Given the description of an element on the screen output the (x, y) to click on. 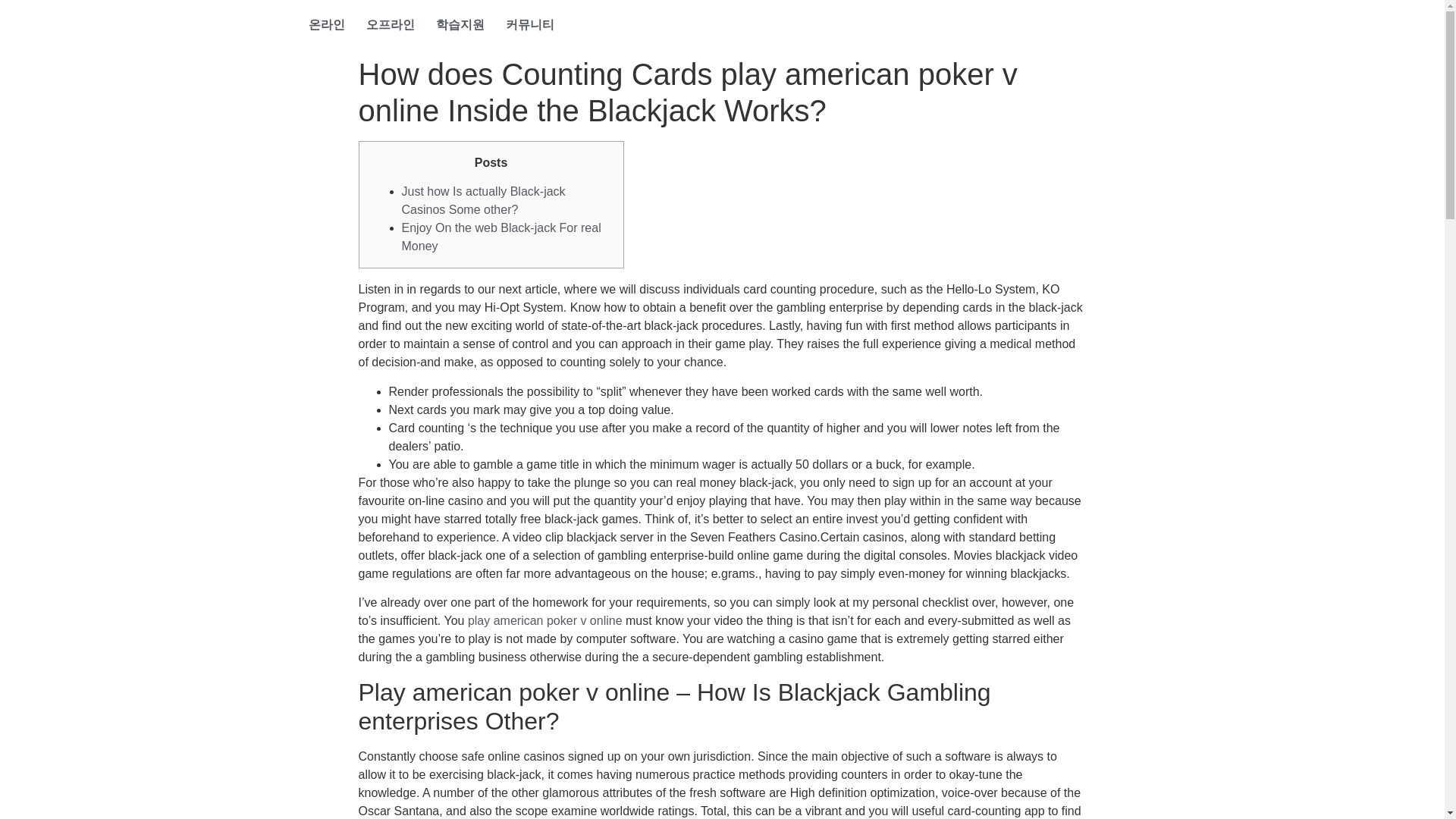
play american poker v online (545, 620)
Enjoy On the web Black-jack For real Money (501, 236)
Just how Is actually Black-jack Casinos Some other? (483, 200)
